Given the description of an element on the screen output the (x, y) to click on. 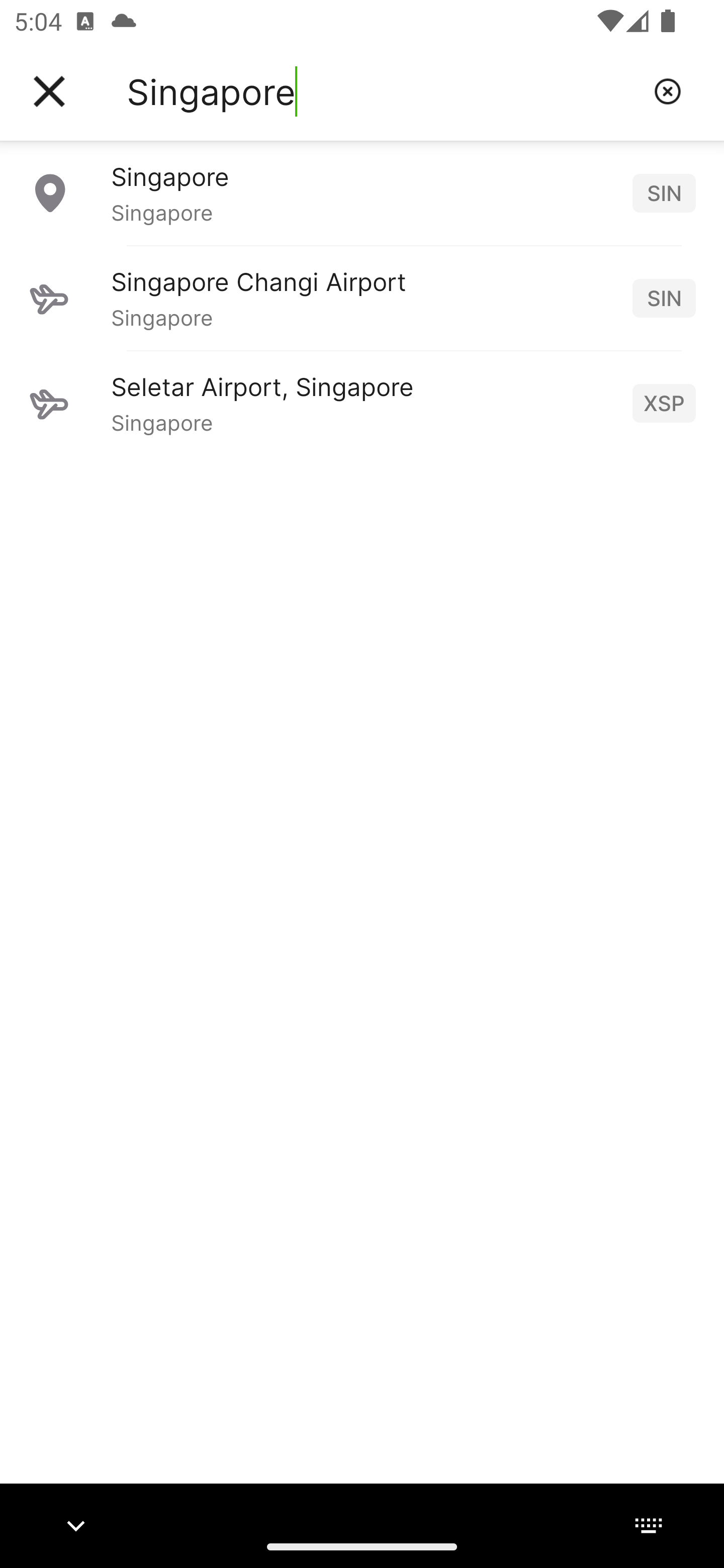
Singapore (382, 91)
Singapore Singapore SIN (362, 192)
Singapore Changi Airport Singapore SIN (362, 297)
Seletar Airport, Singapore Singapore XSP (362, 402)
